Given the description of an element on the screen output the (x, y) to click on. 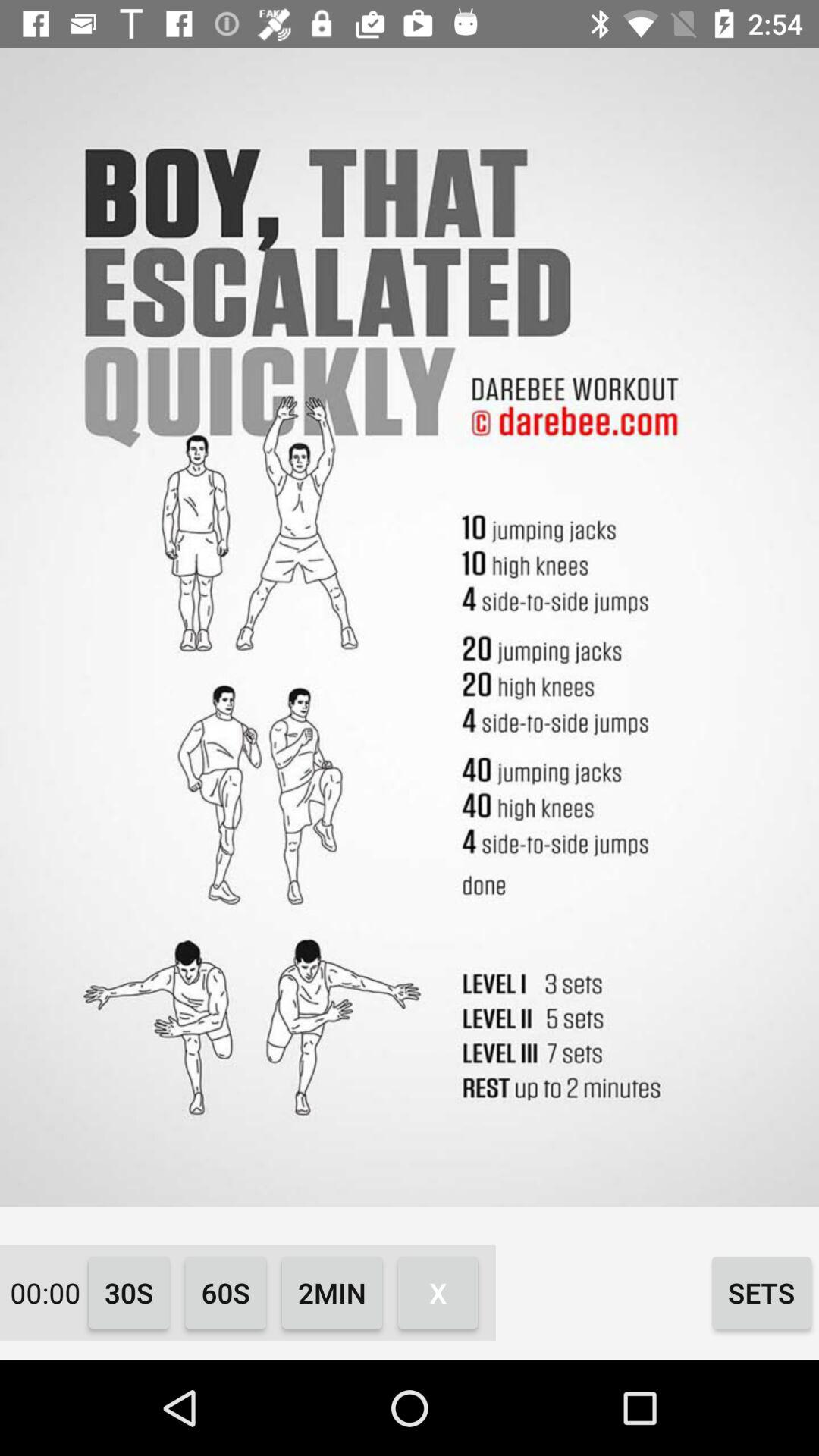
turn off item to the left of the 60s icon (128, 1292)
